Given the description of an element on the screen output the (x, y) to click on. 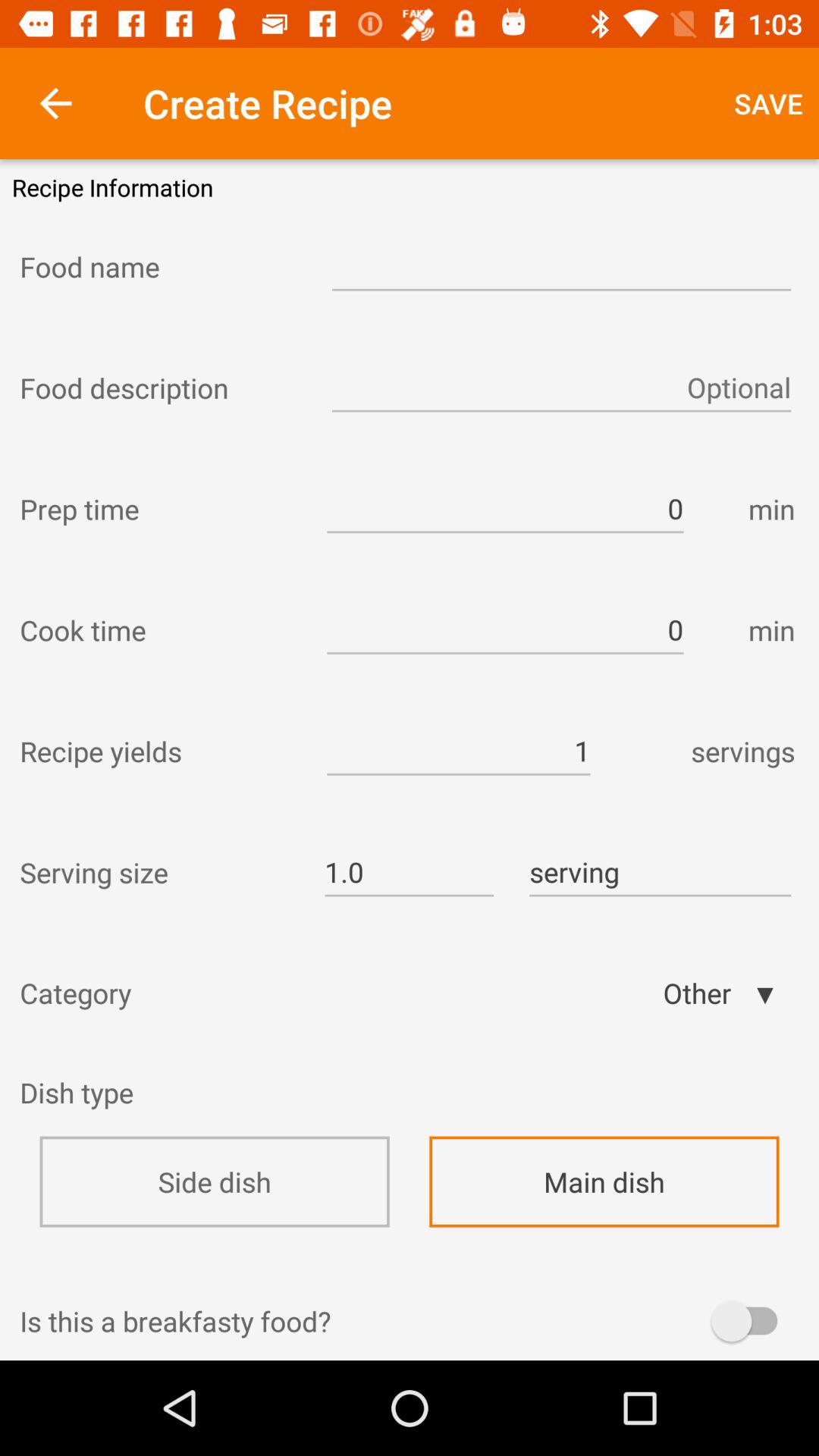
swipe until the serving size (157, 872)
